Given the description of an element on the screen output the (x, y) to click on. 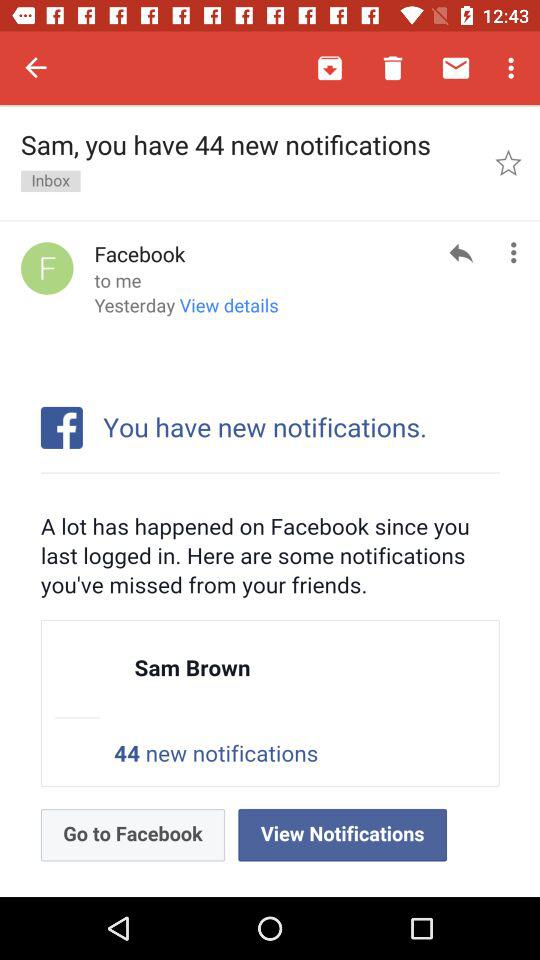
press icon to the right of the sam you have item (508, 162)
